Given the description of an element on the screen output the (x, y) to click on. 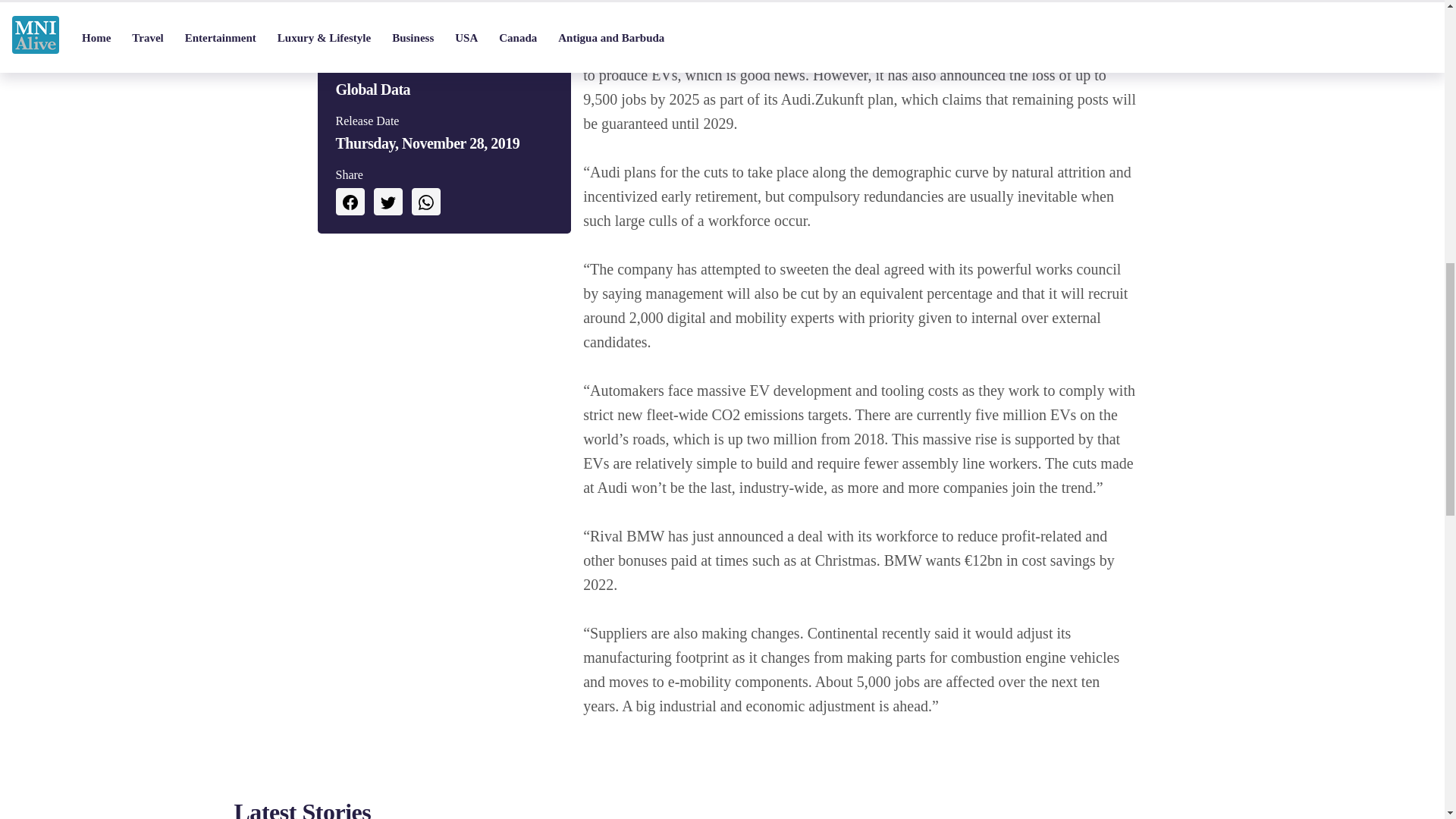
Share on Twitter (386, 201)
Share on WhatsApp (424, 201)
Share on Facebook (349, 201)
